Given the description of an element on the screen output the (x, y) to click on. 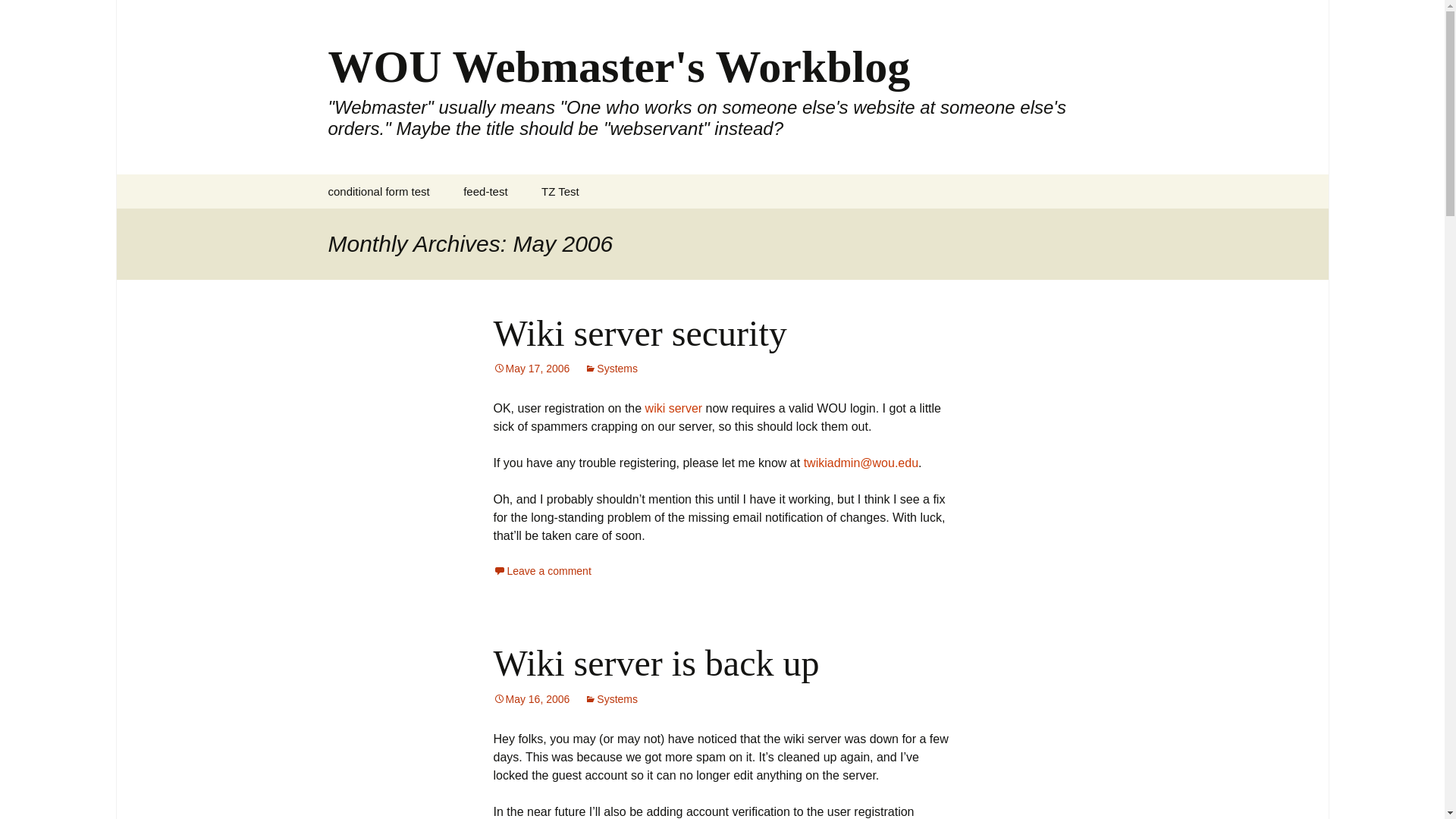
Wiki server is back up (655, 662)
Permalink to Wiki server is back up (531, 698)
wiki server (674, 408)
Systems (611, 698)
feed-test (485, 191)
Wiki server security (639, 332)
May 16, 2006 (531, 698)
Search (34, 15)
May 17, 2006 (531, 368)
Permalink to Wiki server security (531, 368)
Search (18, 15)
Systems (611, 368)
